Given the description of an element on the screen output the (x, y) to click on. 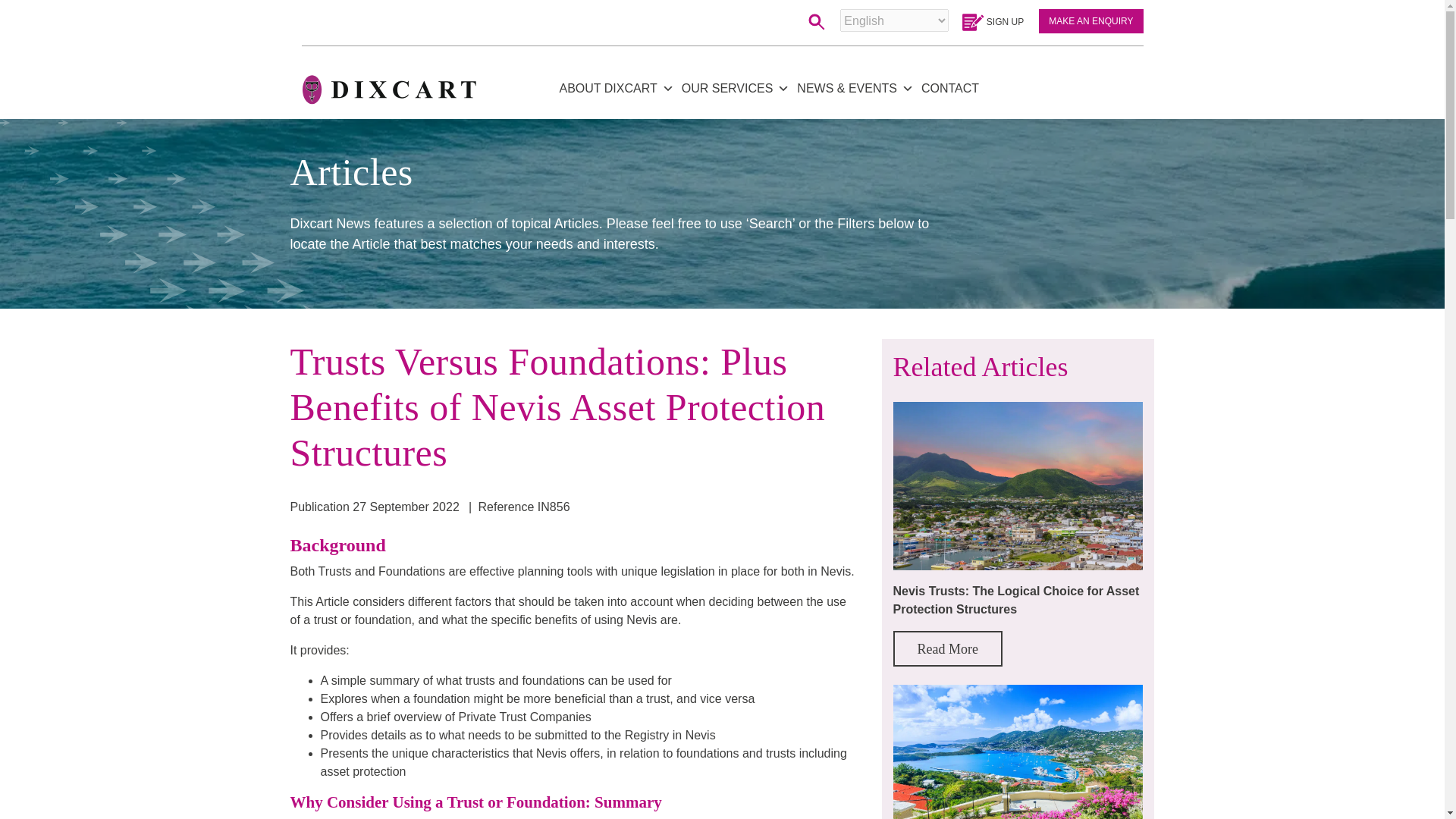
MAKE AN ENQUIRY (1090, 21)
ABOUT DIXCART (616, 88)
OUR SERVICES (735, 88)
SIGN UP (991, 21)
